Given the description of an element on the screen output the (x, y) to click on. 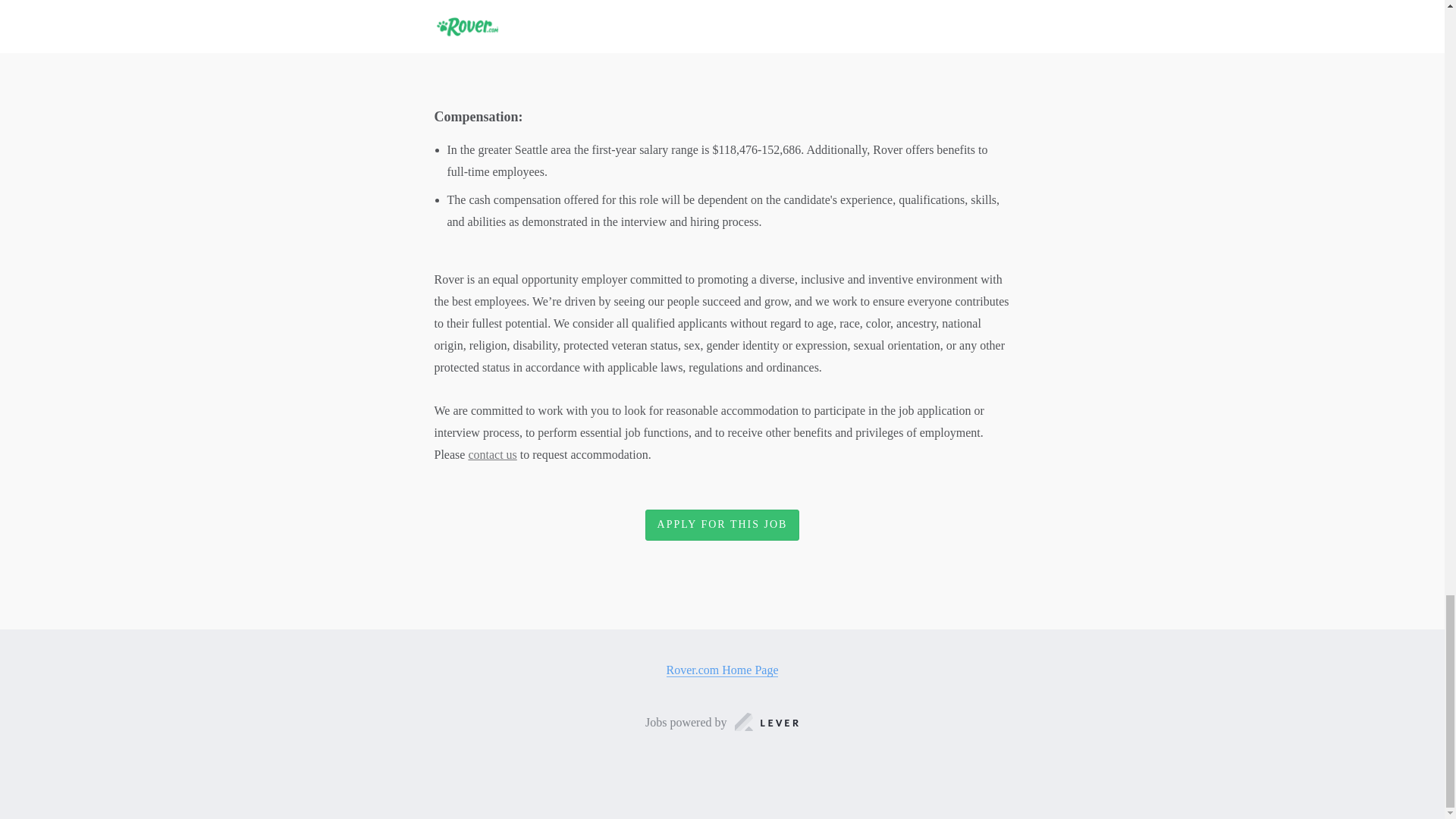
APPLY FOR THIS JOB (722, 524)
Jobs powered by (722, 722)
contact us (491, 454)
Rover.com Home Page (722, 670)
